Given the description of an element on the screen output the (x, y) to click on. 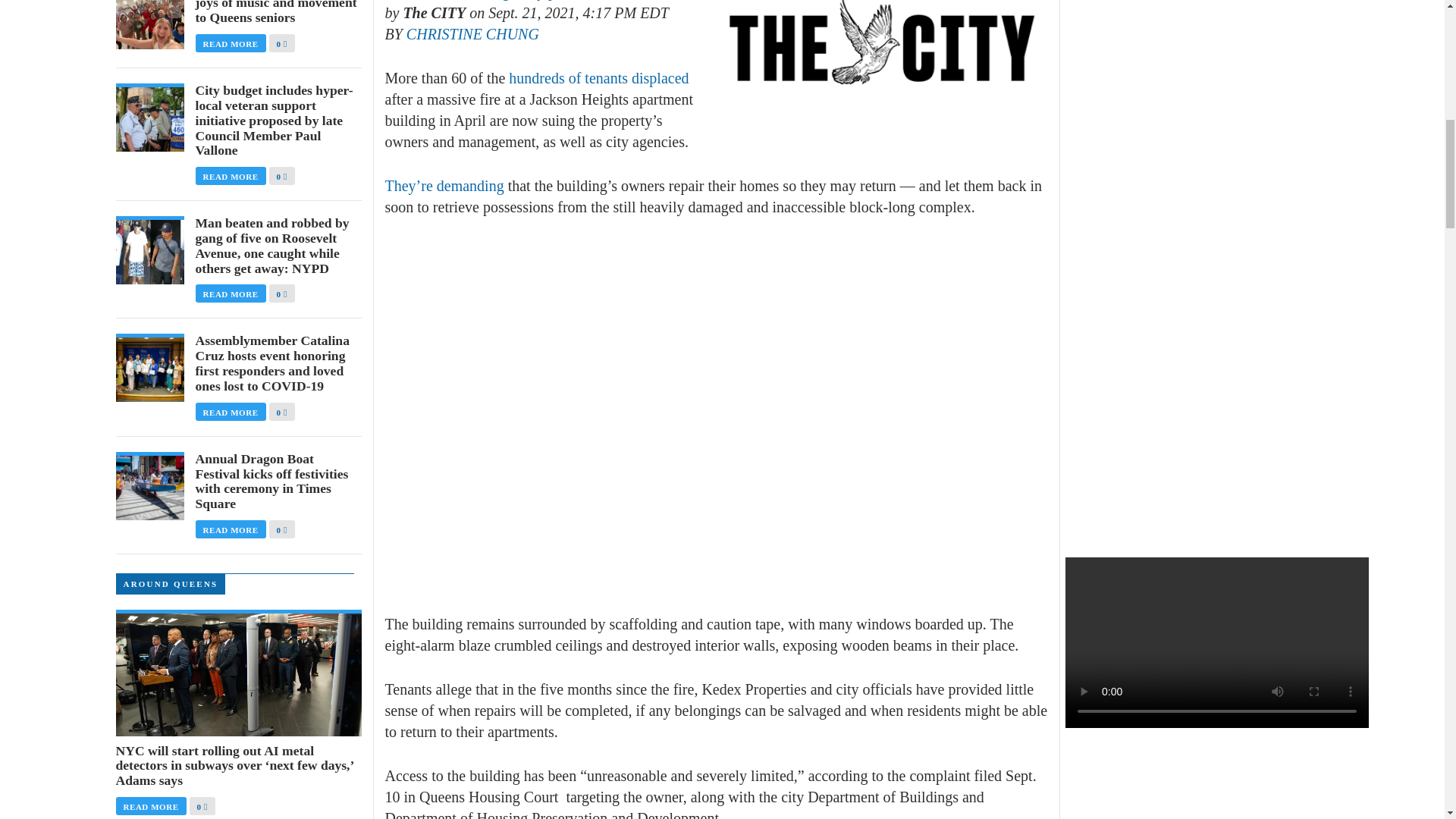
CHRISTINE CHUNG (472, 33)
hundreds of tenants displaced (598, 77)
